Given the description of an element on the screen output the (x, y) to click on. 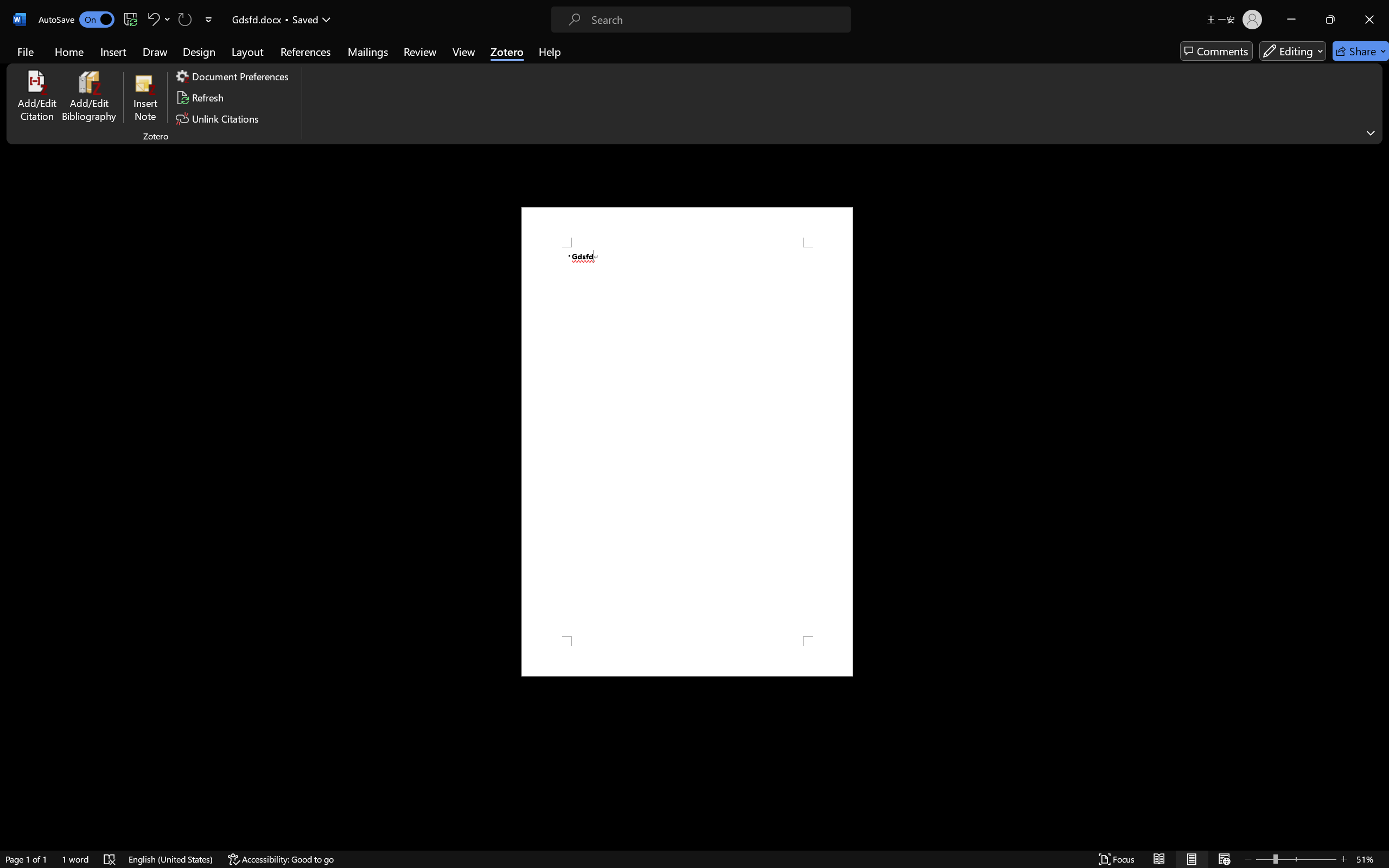
Curve (550, 72)
Text Highlight Color (287, 71)
Character Spacing (242, 71)
Center (346, 71)
